Given the description of an element on the screen output the (x, y) to click on. 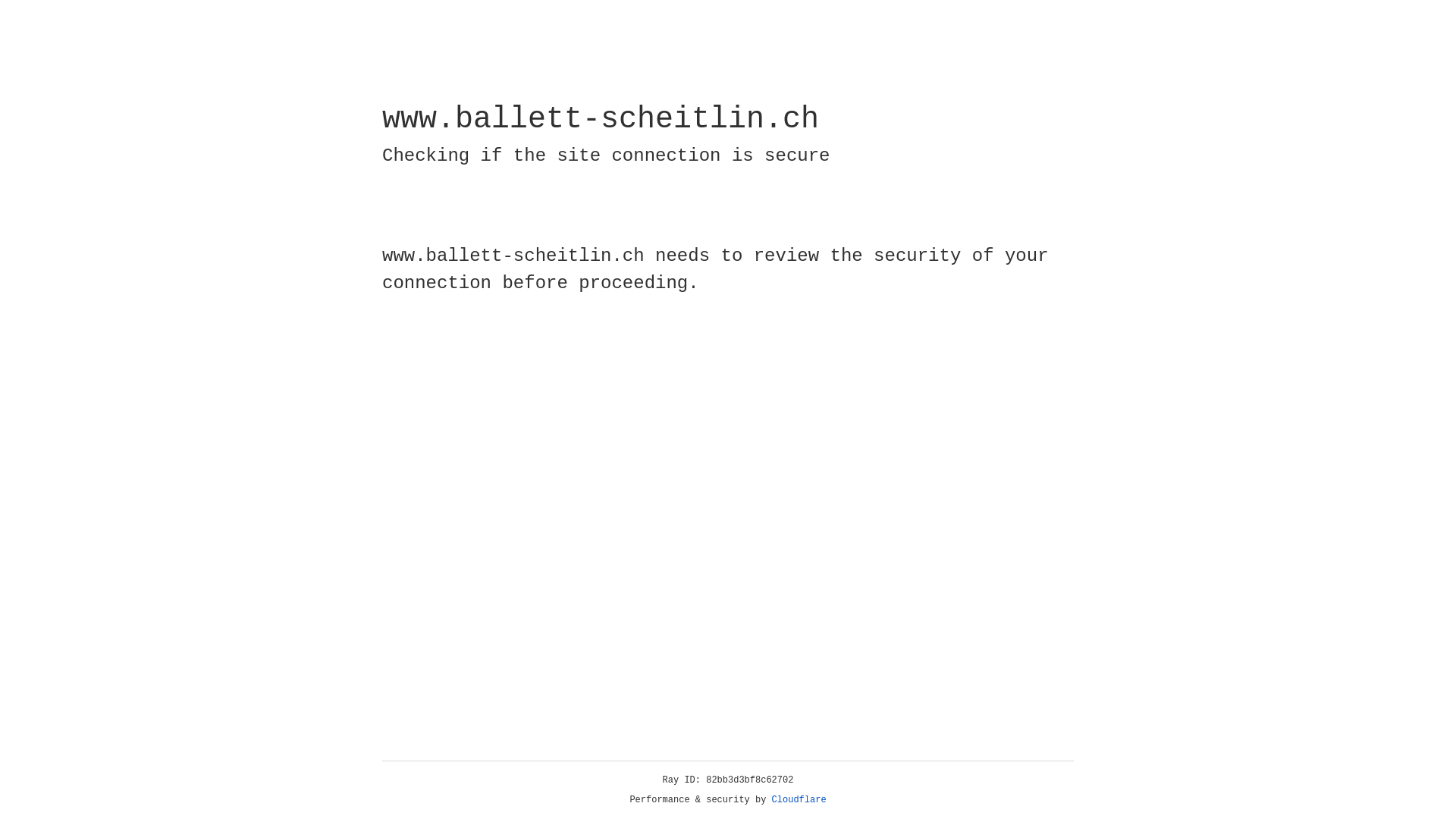
Cloudflare Element type: text (798, 799)
